Given the description of an element on the screen output the (x, y) to click on. 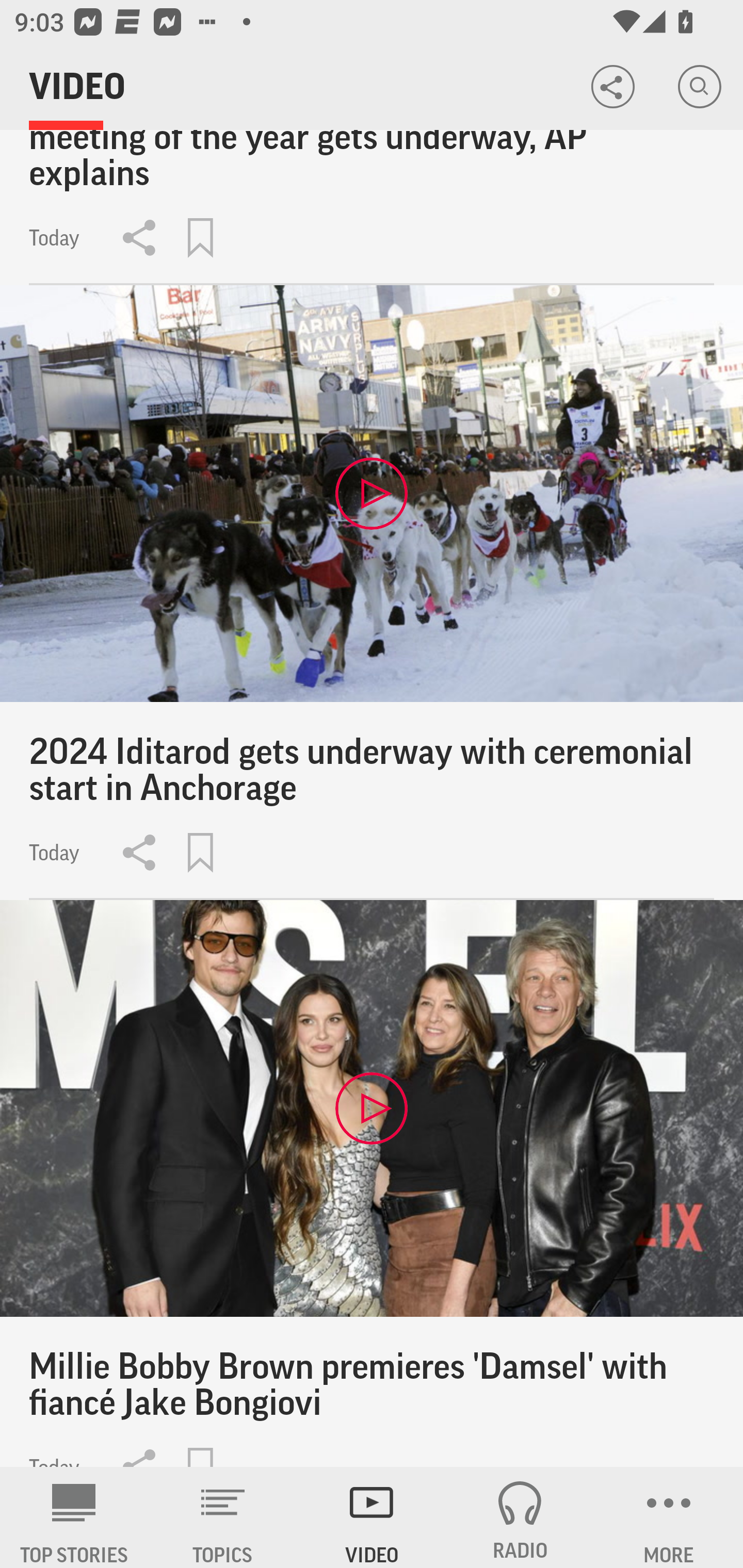
AP News TOP STORIES (74, 1517)
TOPICS (222, 1517)
VIDEO (371, 1517)
RADIO (519, 1517)
MORE (668, 1517)
